Given the description of an element on the screen output the (x, y) to click on. 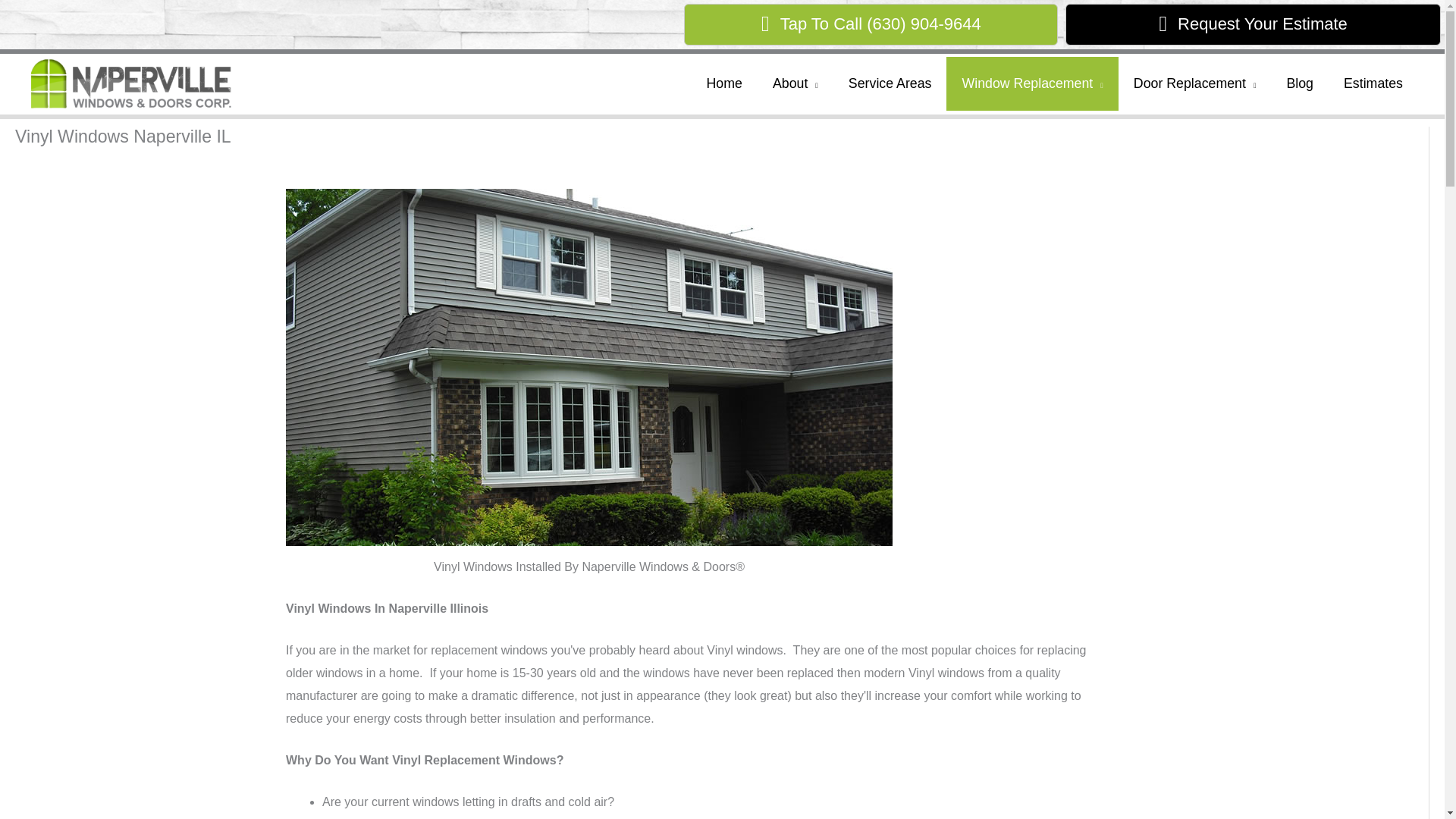
Home (724, 83)
Window Replacement (1032, 83)
About (794, 83)
Blog (1299, 83)
Service Areas (889, 83)
Estimates (1372, 83)
Door Replacement (1194, 83)
Request Your Estimate (1253, 24)
